Given the description of an element on the screen output the (x, y) to click on. 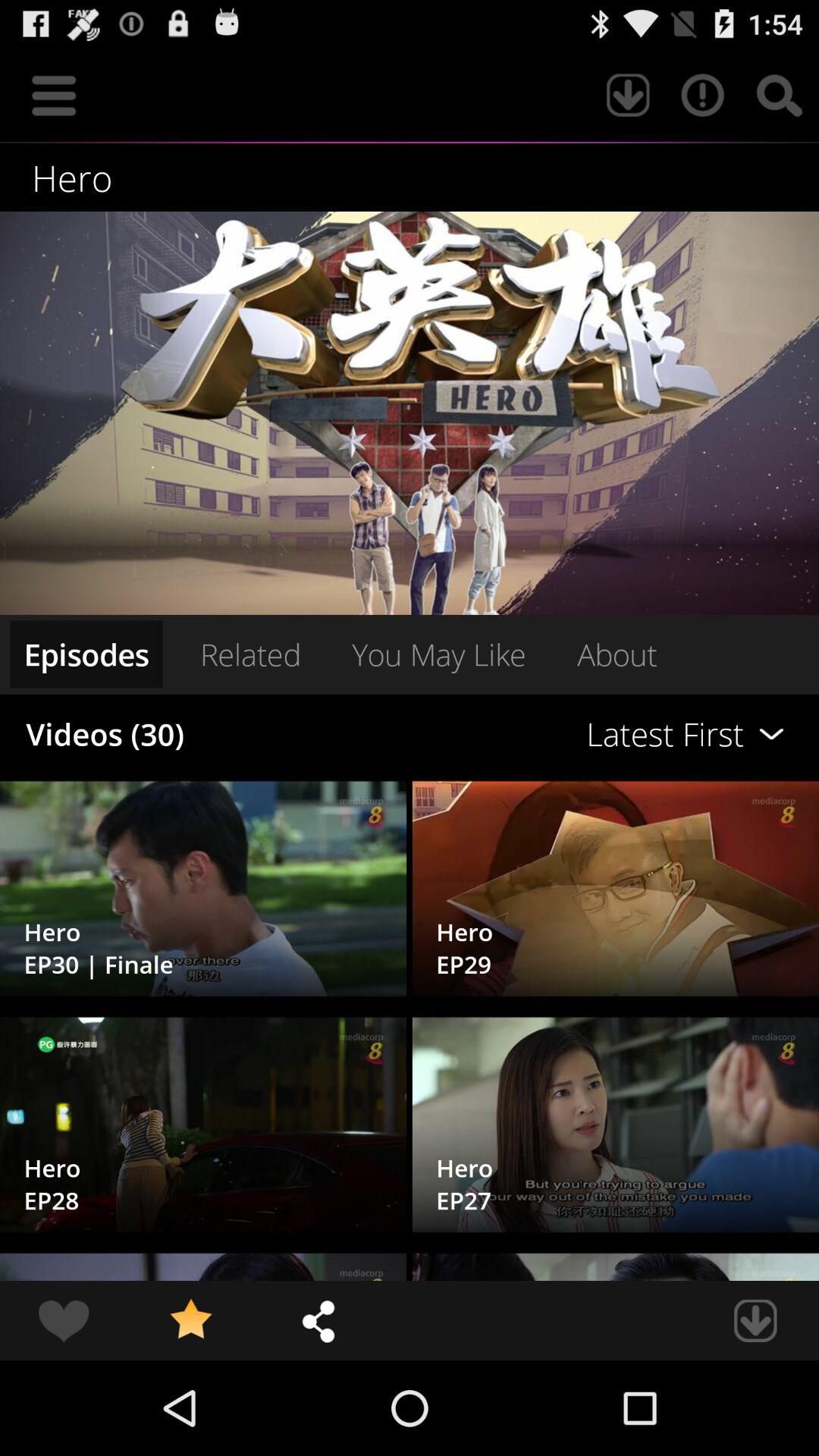
click item at the bottom (318, 1320)
